Given the description of an element on the screen output the (x, y) to click on. 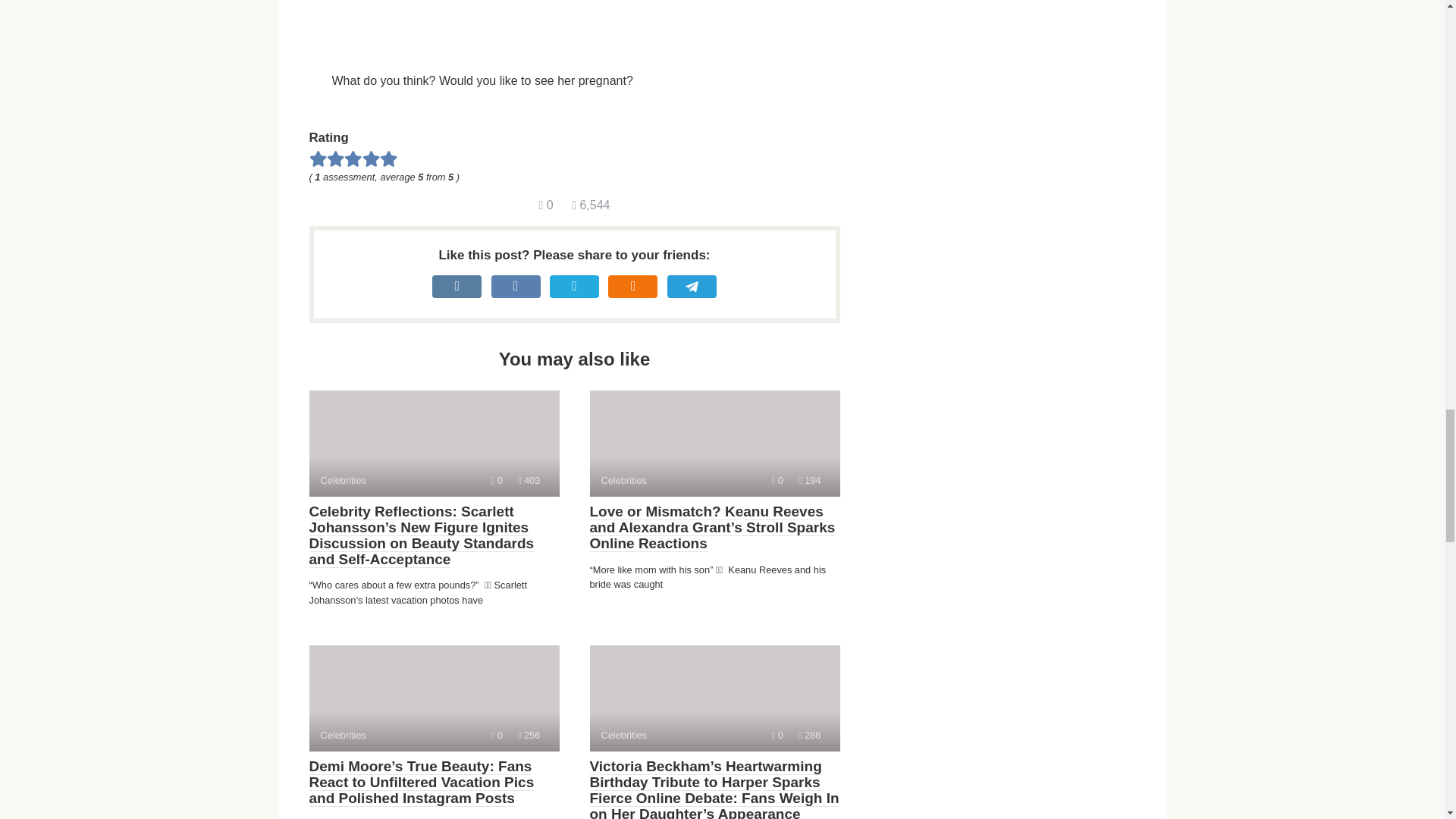
Comments (497, 480)
Comments (433, 698)
Comments (777, 735)
Views (497, 735)
Views (529, 480)
Comments (529, 735)
Comments (545, 205)
Views (777, 480)
Views (714, 698)
Views (714, 443)
